Given the description of an element on the screen output the (x, y) to click on. 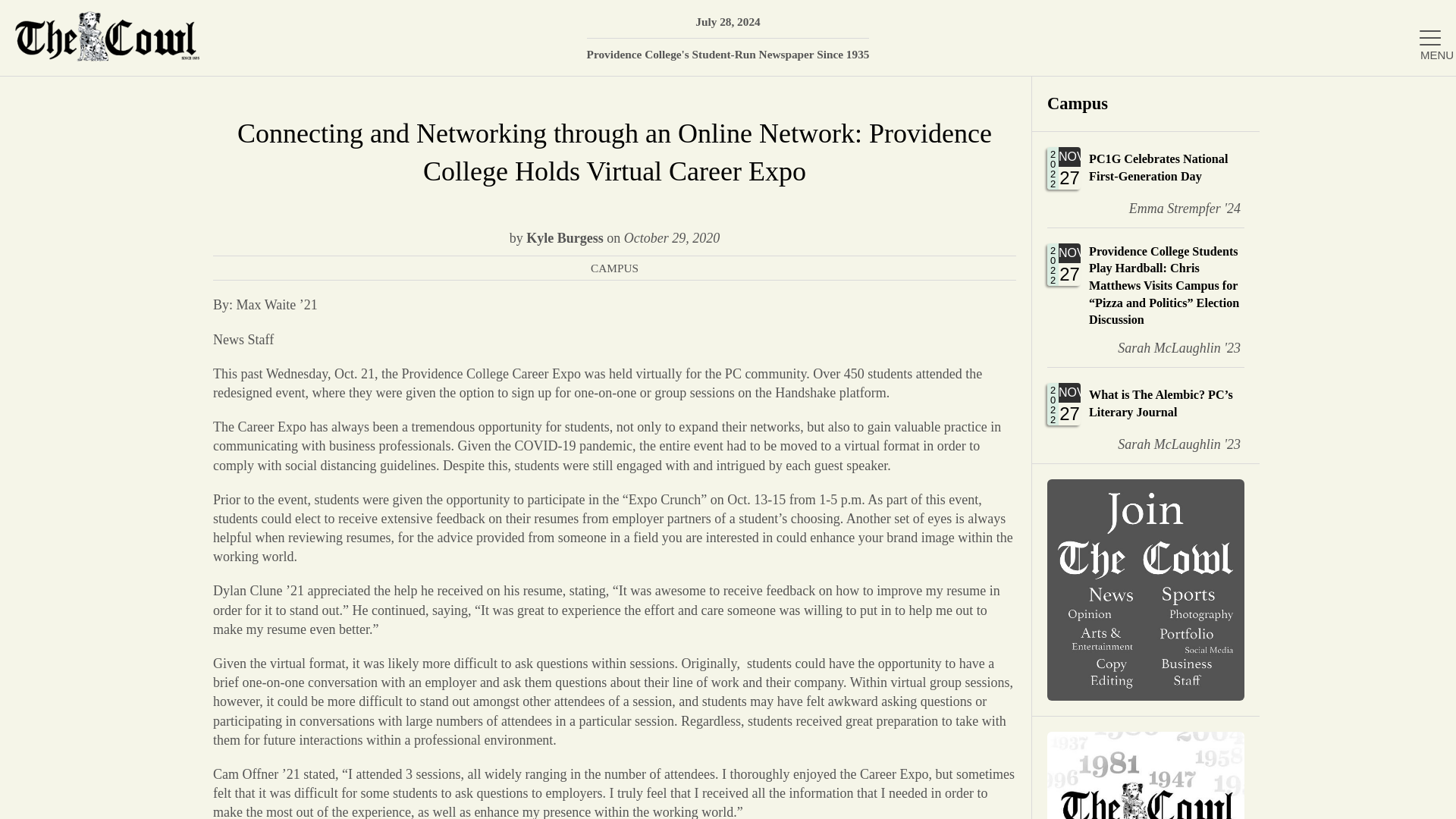
Search (1422, 96)
Sarah McLaughlin '23 (1167, 444)
Portfolio (1275, 399)
Sports (1145, 179)
PC1G Celebrates National First-Generation Day (1275, 448)
Opinion (1145, 179)
Emma Strempfer '24 (1275, 349)
Letters to the Editor (1173, 208)
Campus (1275, 497)
About Us (1145, 103)
News (1275, 201)
Home (1275, 251)
Search (1275, 152)
Sarah McLaughlin '23 (1422, 96)
